Given the description of an element on the screen output the (x, y) to click on. 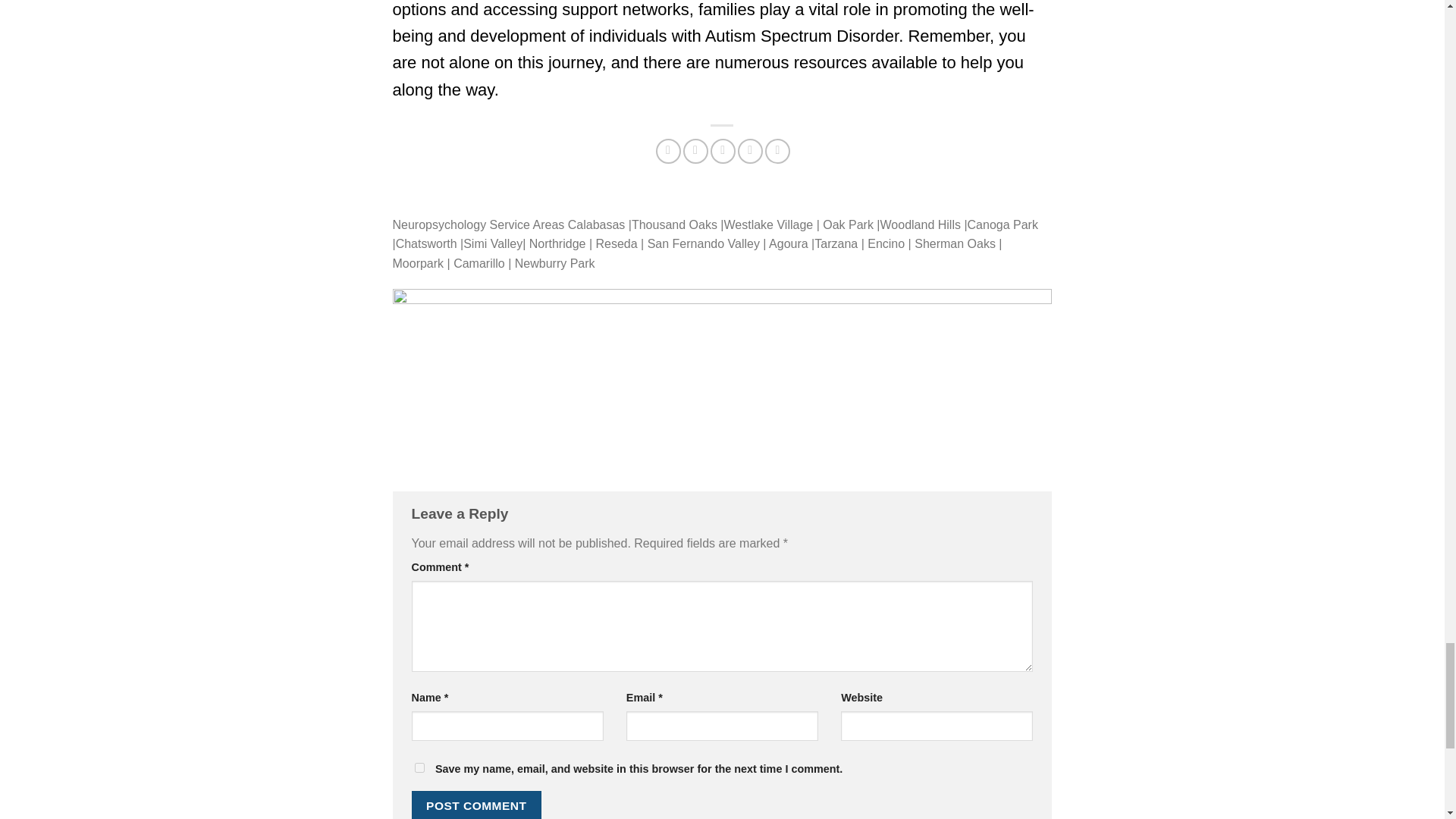
Share on Facebook (668, 150)
Pin on Pinterest (750, 150)
Email to a Friend (722, 150)
yes (418, 767)
Share on LinkedIn (777, 150)
Share on Twitter (694, 150)
Post Comment (475, 805)
Post Comment (475, 805)
